Given the description of an element on the screen output the (x, y) to click on. 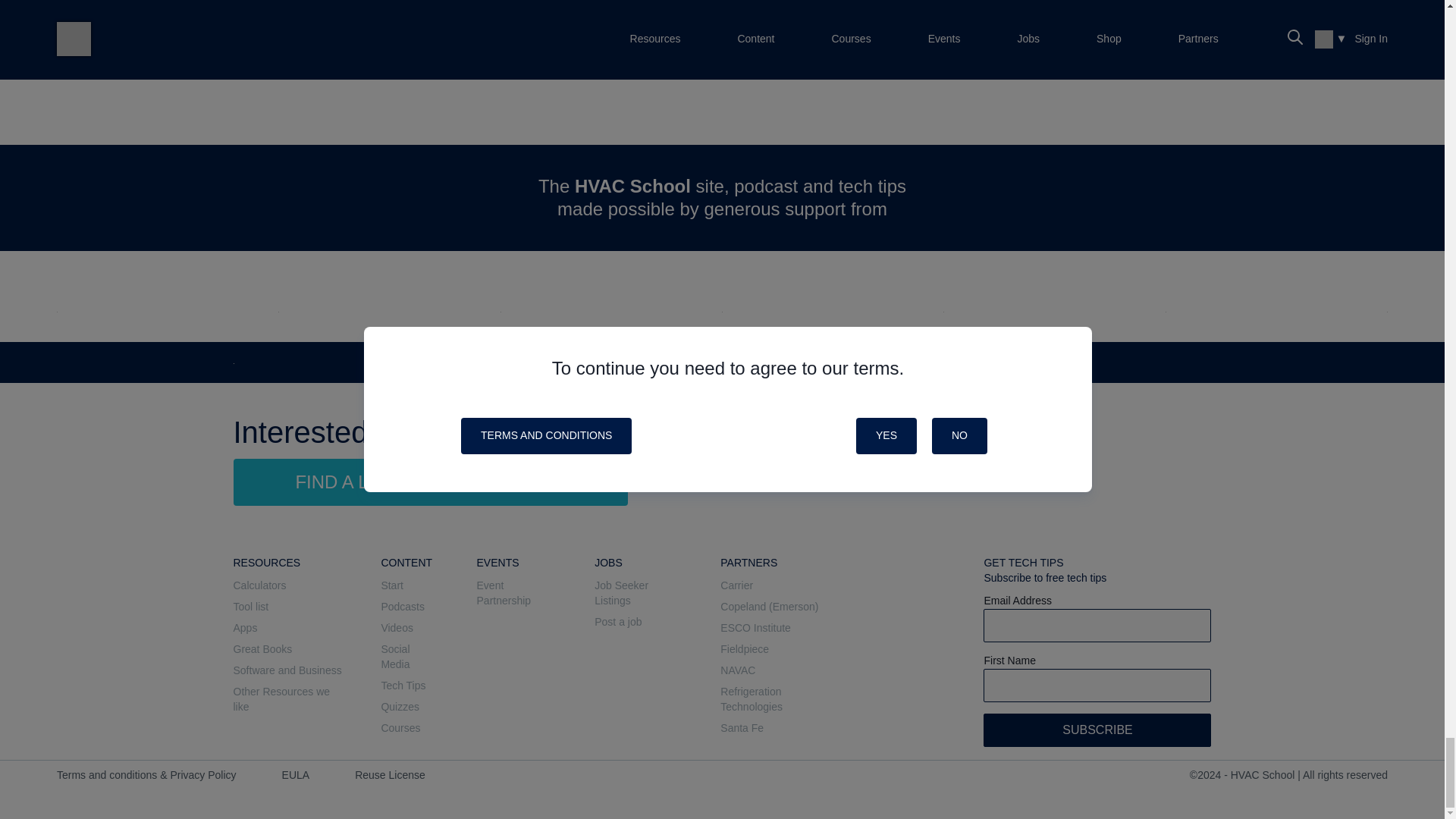
Subscribe (1097, 729)
